Given the description of an element on the screen output the (x, y) to click on. 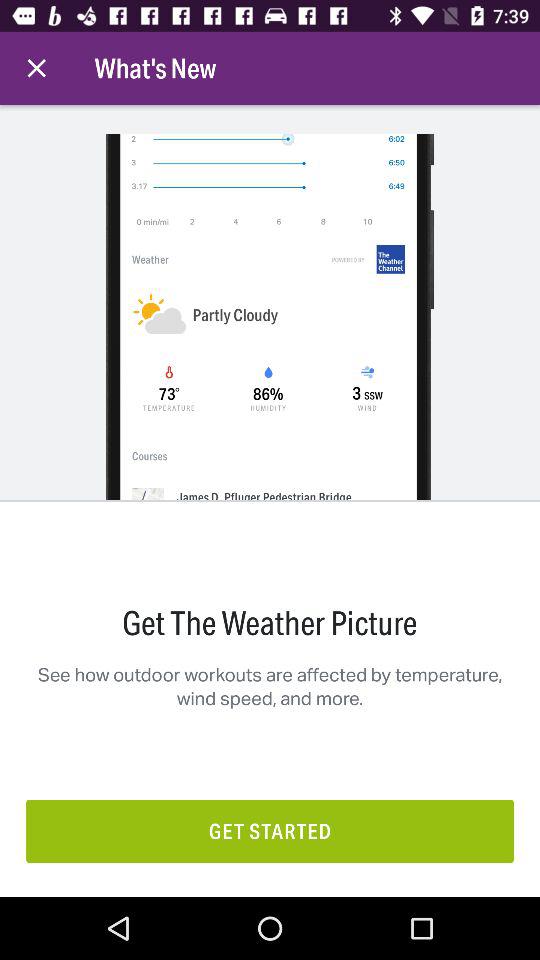
scroll until get started icon (269, 830)
